Given the description of an element on the screen output the (x, y) to click on. 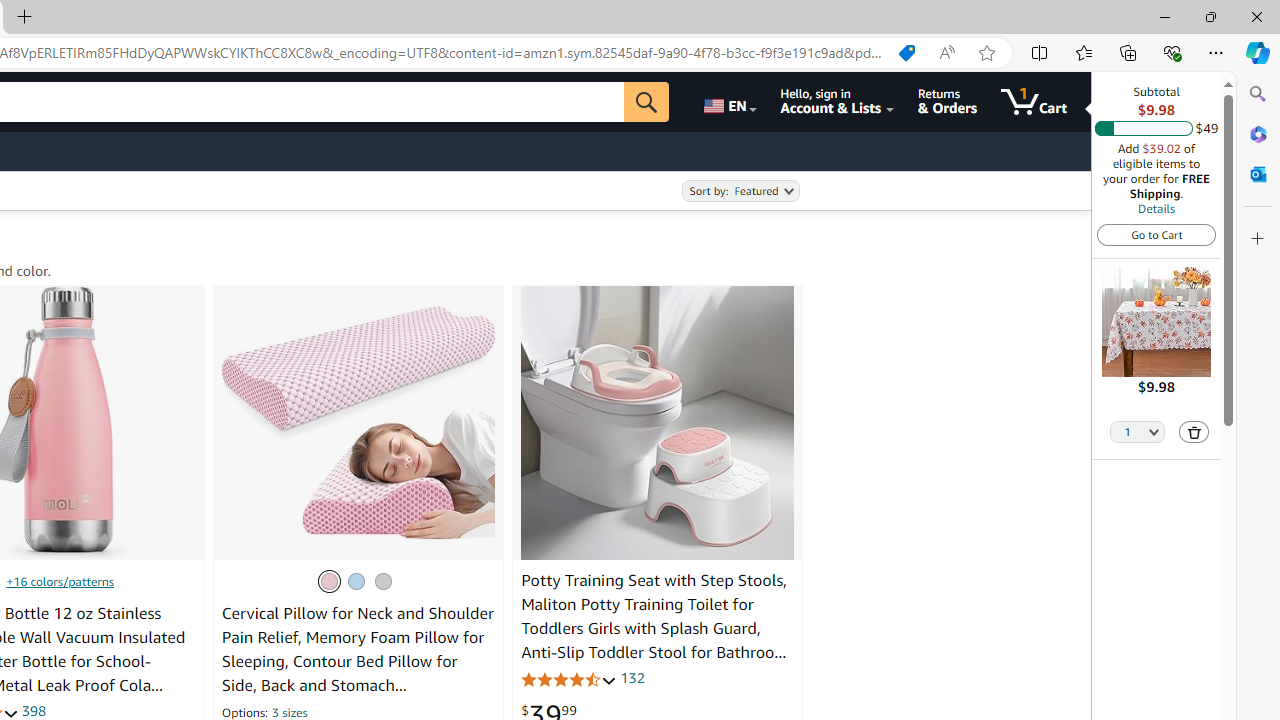
Close Outlook pane (1258, 174)
Sort by: (740, 191)
1 item in cart (1034, 101)
Quantity Selector (1137, 430)
Choose a language for shopping. (728, 101)
Pink (328, 580)
Delete (1193, 431)
